Given the description of an element on the screen output the (x, y) to click on. 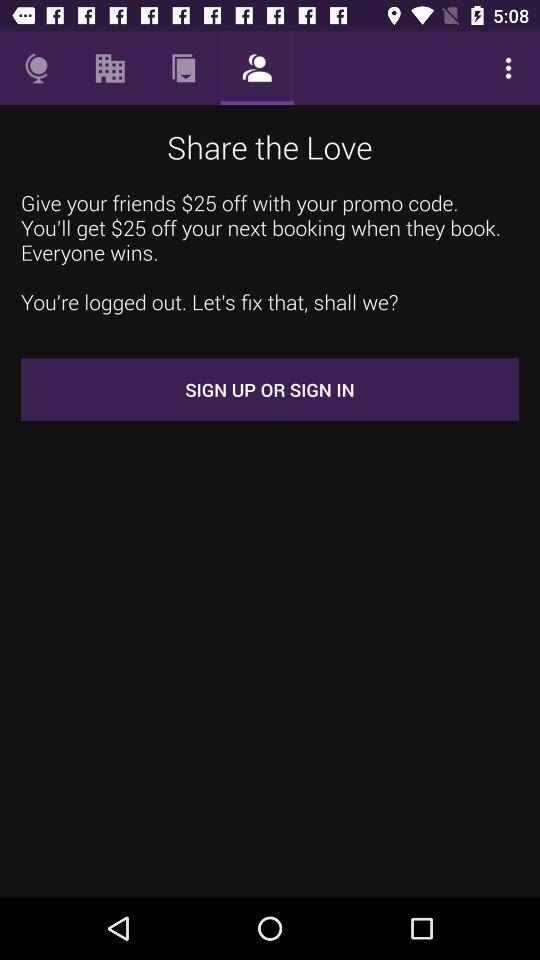
open sign up or at the center (270, 389)
